Given the description of an element on the screen output the (x, y) to click on. 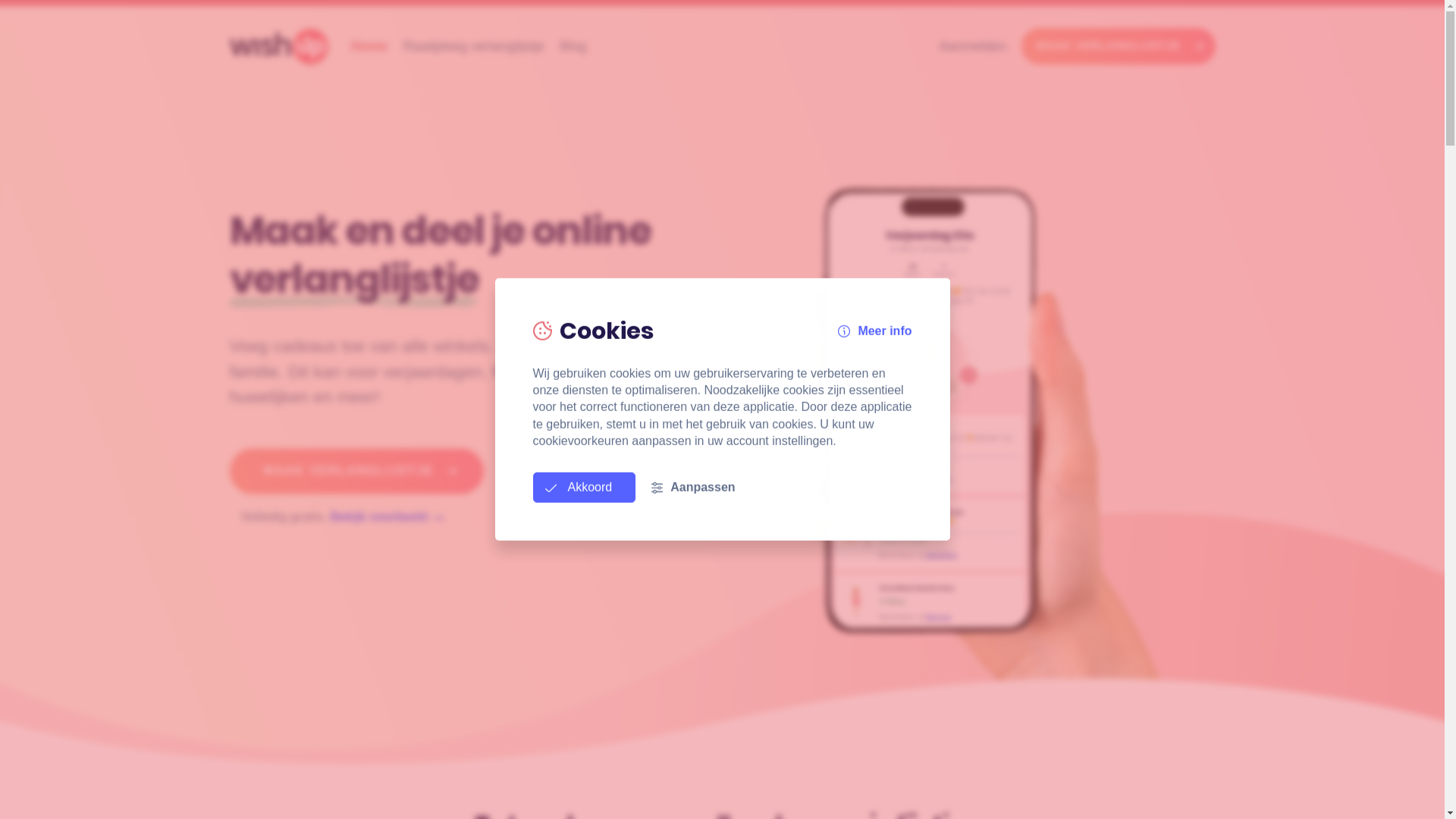
MAAK VERLANGLIJSTJE Element type: text (356, 470)
Akkoord Element type: text (583, 487)
Home Element type: text (368, 45)
Aanmelden Element type: text (972, 45)
Raadpleeg verlanglijstje Element type: text (473, 45)
Aanpassen Element type: text (692, 487)
Blog Element type: text (572, 45)
MAAK VERLANGLIJSTJE Element type: text (1117, 46)
Bekijk voorbeeld Element type: text (385, 516)
